Given the description of an element on the screen output the (x, y) to click on. 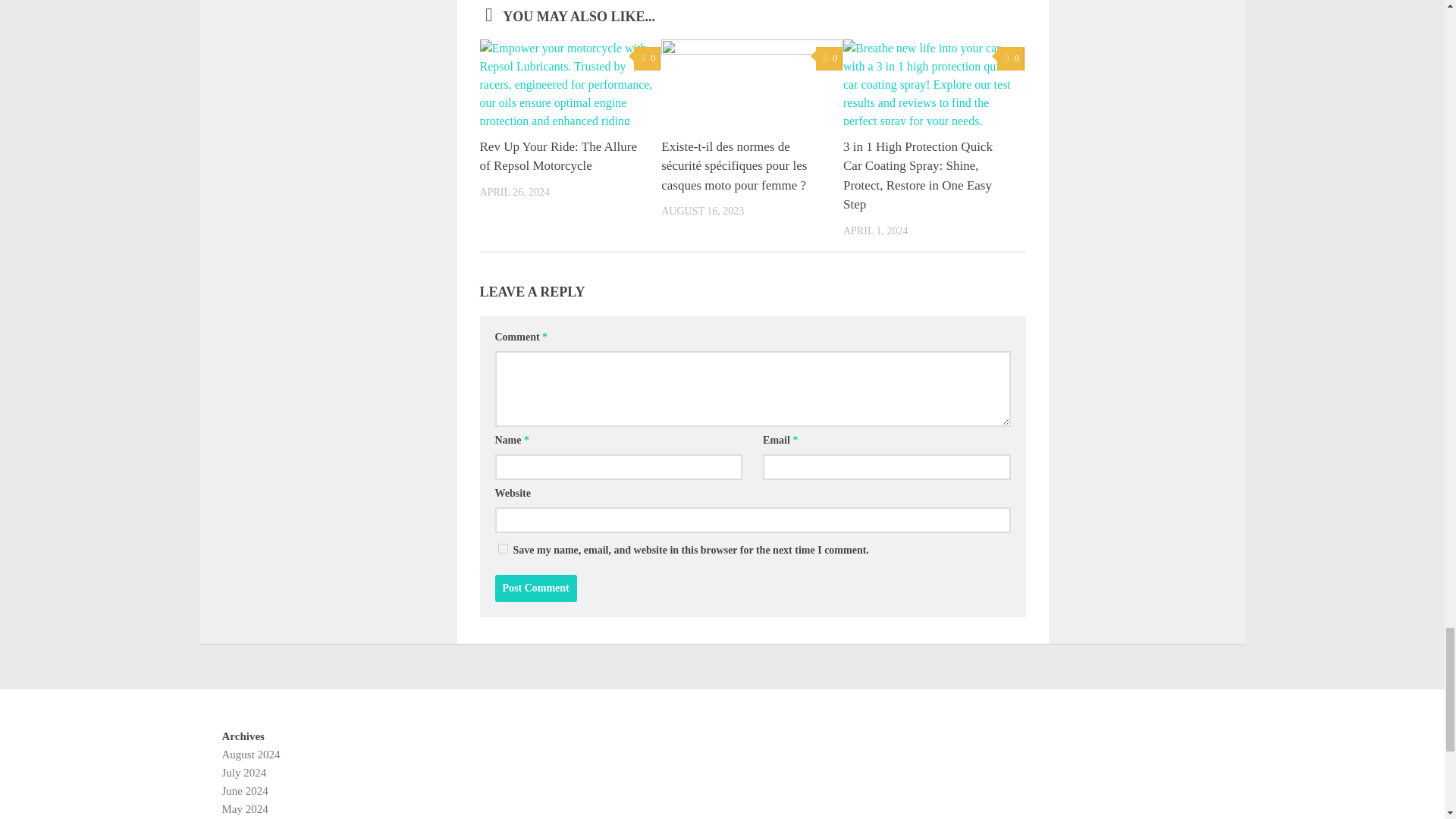
Post Comment (535, 587)
0 (829, 58)
yes (501, 548)
Post Comment (535, 587)
0 (647, 58)
0 (1010, 58)
Rev Up Your Ride: The Allure of Repsol Motorcycle (557, 156)
